Given the description of an element on the screen output the (x, y) to click on. 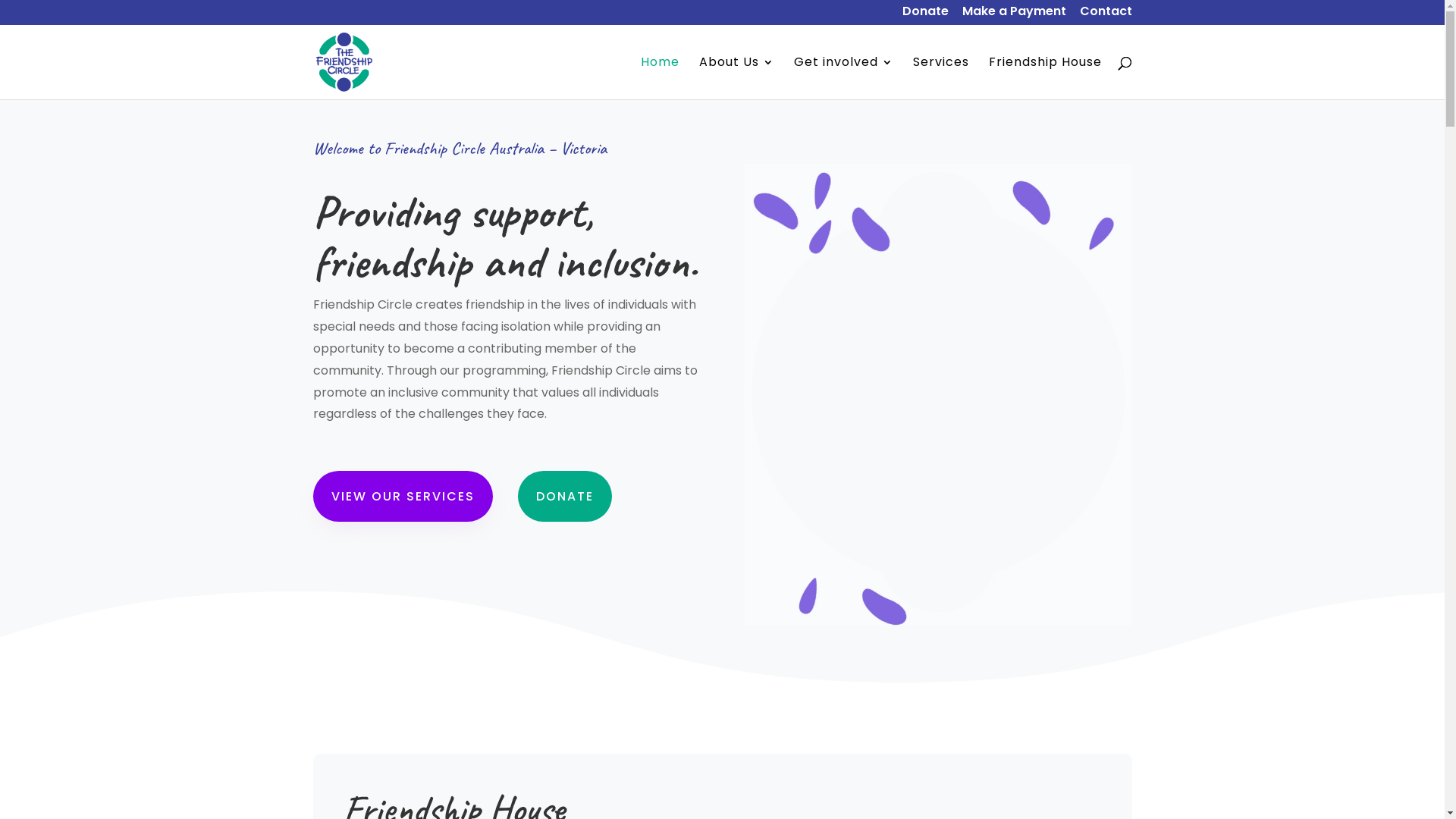
Friendship House Element type: text (1044, 77)
Make a Payment Element type: text (1013, 15)
DONATE Element type: text (564, 495)
About Us Element type: text (736, 77)
Get involved Element type: text (842, 77)
VIEW OUR SERVICES Element type: text (402, 495)
Home Element type: text (659, 77)
Donate Element type: text (925, 15)
Contact Element type: text (1105, 15)
Services Element type: text (941, 77)
FC-House-01 Element type: hover (937, 394)
